Given the description of an element on the screen output the (x, y) to click on. 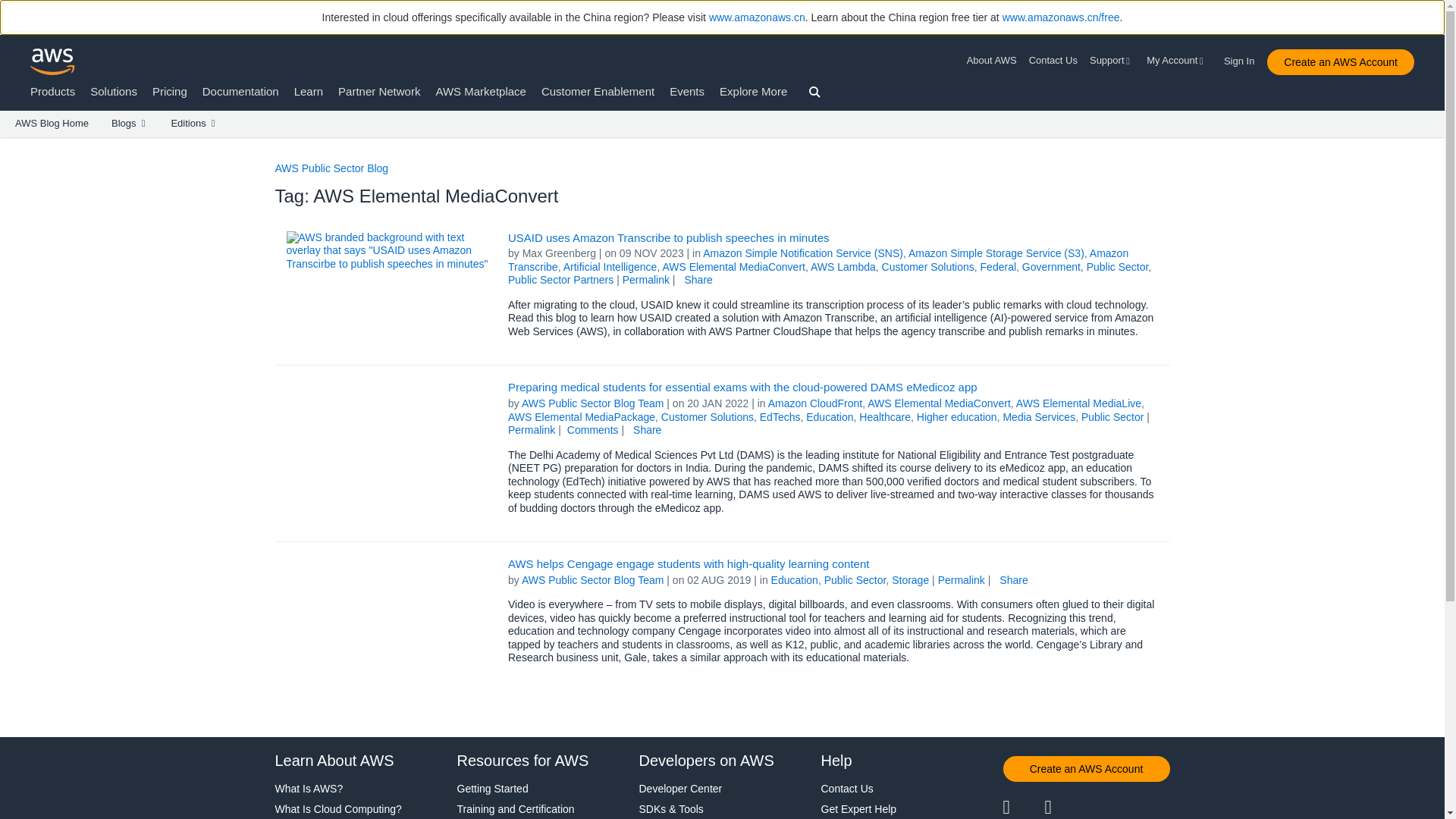
View all posts in Amazon Transcribe (818, 259)
Sign In (1243, 58)
Create an AWS Account (1339, 62)
Skip to Main Content (7, 143)
View all posts in Public Sector (1117, 266)
View all posts in Amazon CloudFront (815, 403)
View all posts in AWS Elemental MediaPackage (581, 417)
View all posts in AWS Elemental MediaConvert (938, 403)
Events (686, 91)
Products (52, 91)
